Given the description of an element on the screen output the (x, y) to click on. 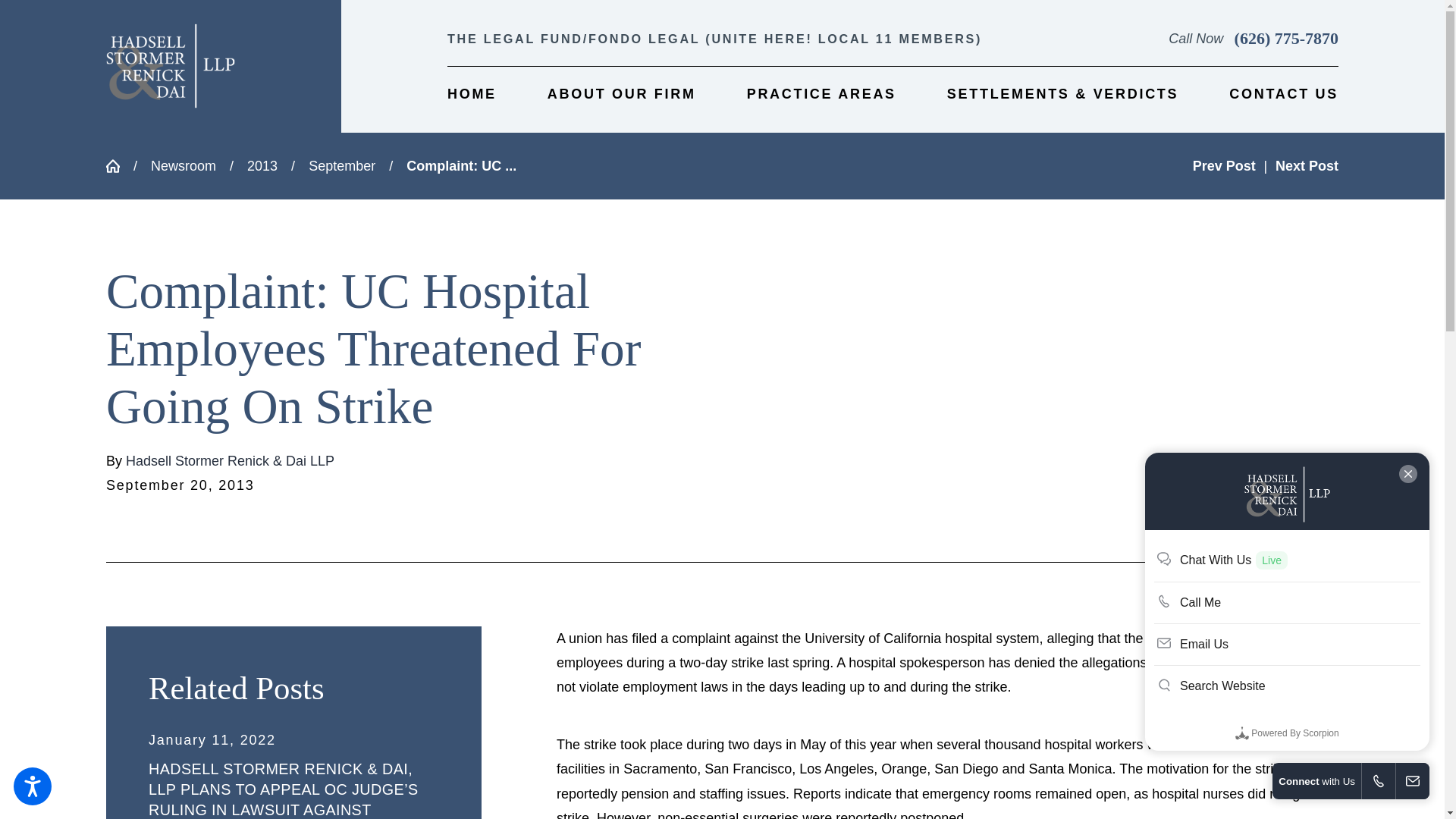
HOME (471, 94)
CONTACT US (1283, 94)
PRACTICE AREAS (821, 94)
Open the accessibility options menu (31, 786)
ABOUT OUR FIRM (621, 94)
Go Home (119, 165)
